Given the description of an element on the screen output the (x, y) to click on. 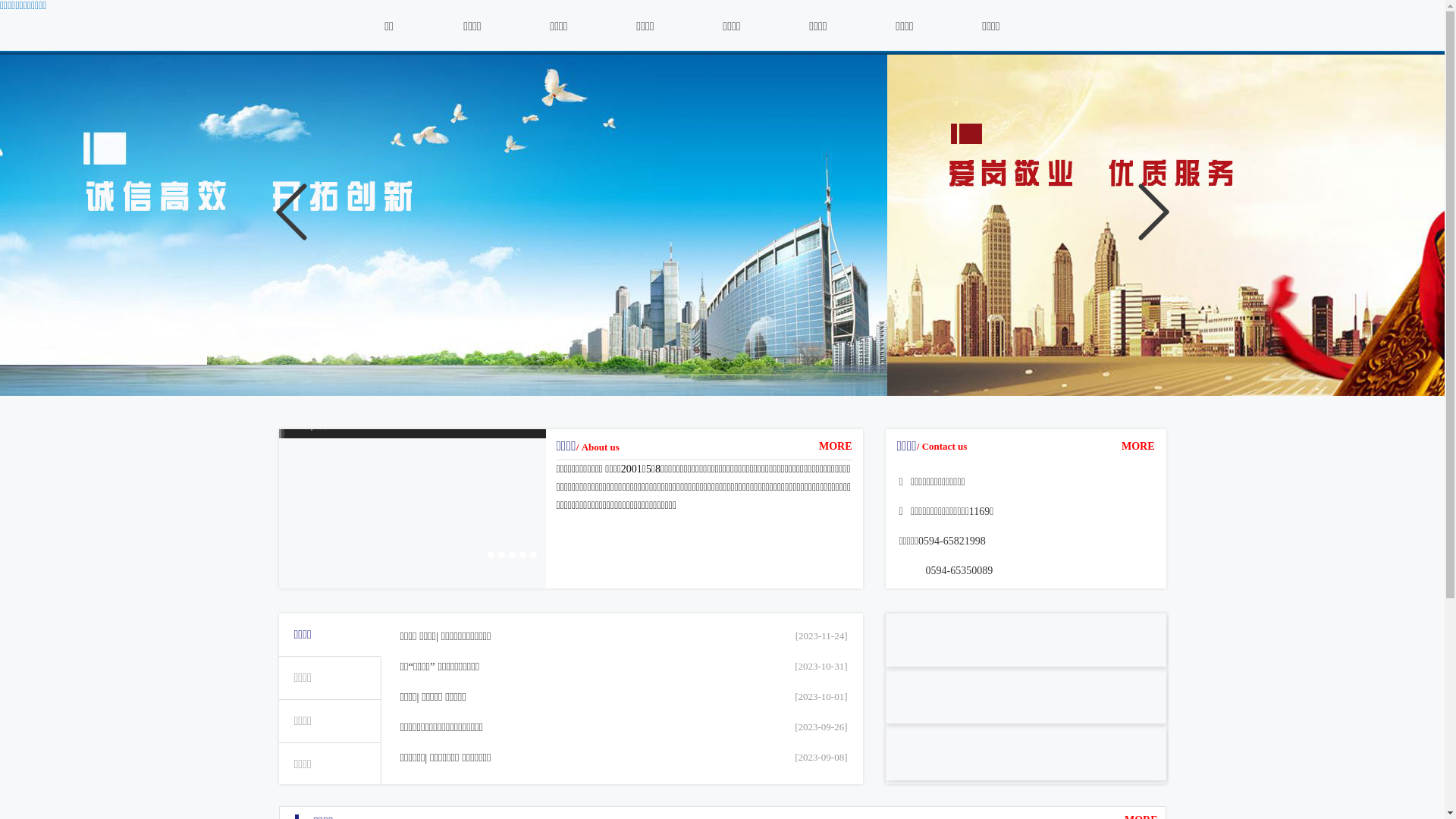
MORE Element type: text (835, 446)
MORE Element type: text (1137, 446)
